Given the description of an element on the screen output the (x, y) to click on. 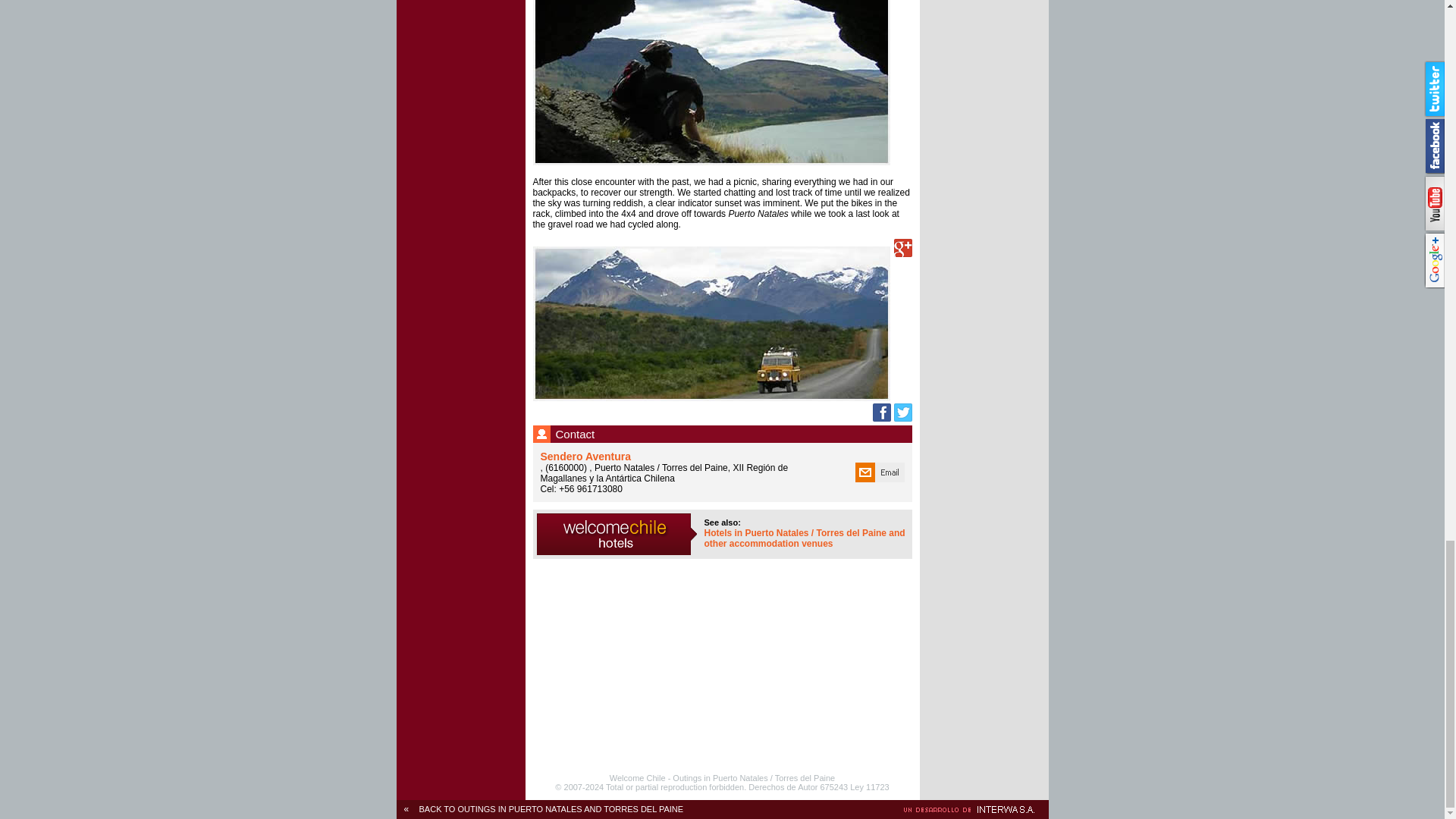
Welcome Chile (637, 777)
